Given the description of an element on the screen output the (x, y) to click on. 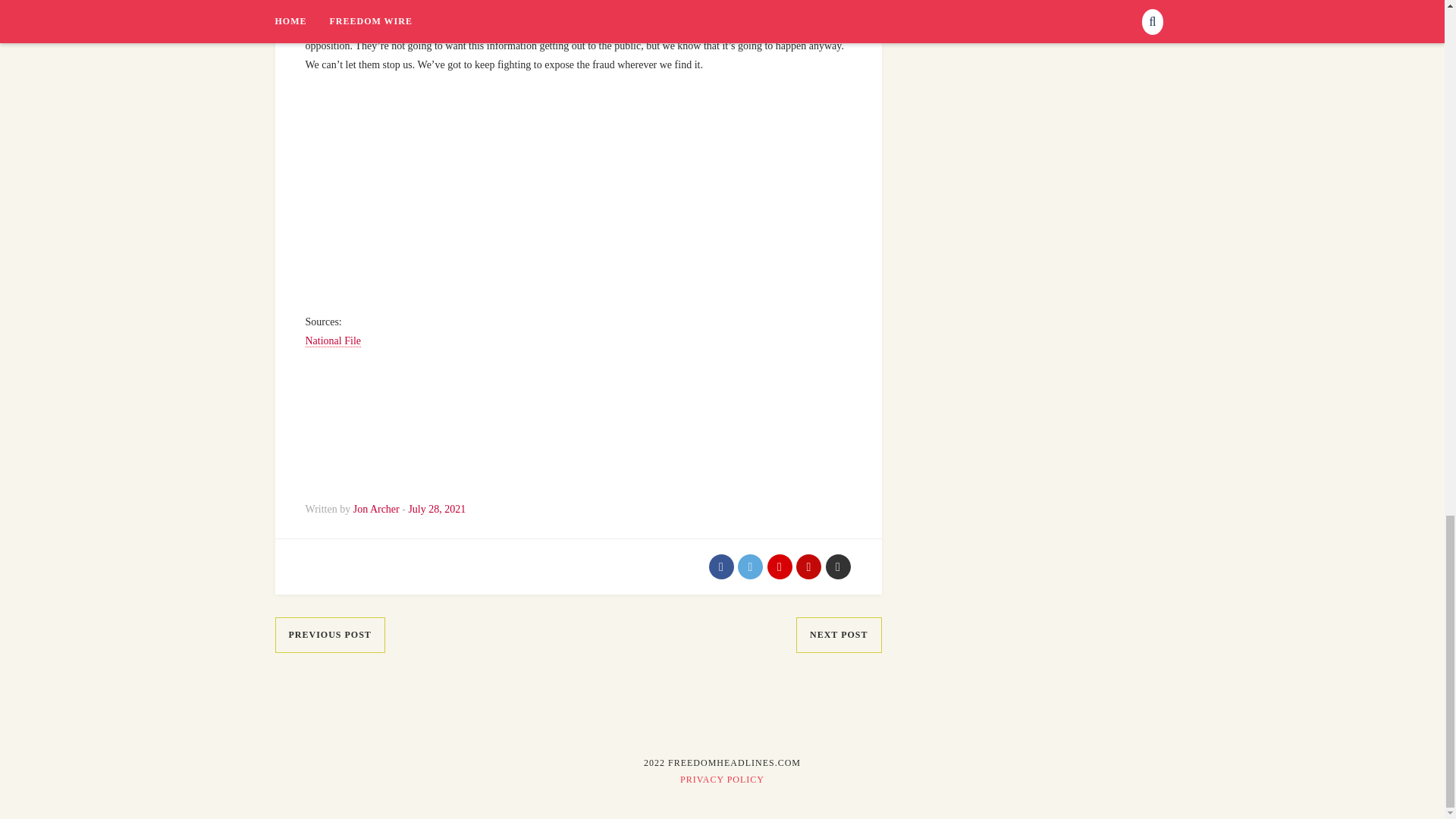
PREVIOUS POST (329, 634)
National File (332, 340)
PRIVACY POLICY (721, 778)
NEXT POST (838, 634)
